Given the description of an element on the screen output the (x, y) to click on. 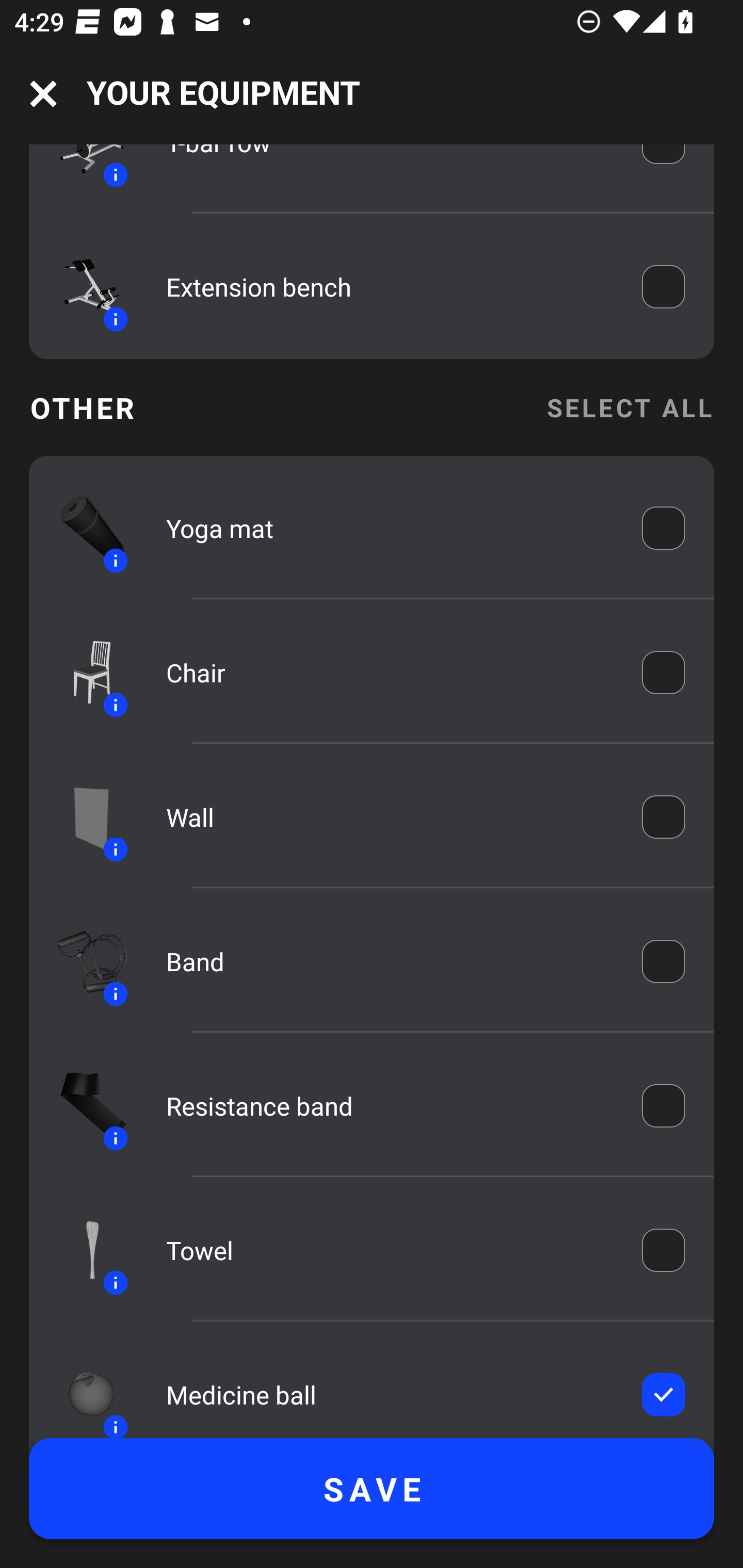
Navigation icon (43, 93)
Equipment icon Information icon (82, 286)
Extension bench (389, 286)
SELECT ALL (629, 407)
Equipment icon Information icon (82, 527)
Yoga mat (389, 527)
Equipment icon Information icon (82, 671)
Chair (389, 672)
Equipment icon Information icon (82, 817)
Wall (389, 816)
Equipment icon Information icon (82, 961)
Band (389, 961)
Equipment icon Information icon (82, 1106)
Resistance band (389, 1106)
Equipment icon Information icon (82, 1250)
Towel (389, 1250)
Equipment icon Information icon (82, 1388)
Medicine ball (389, 1394)
SAVE (371, 1488)
